Given the description of an element on the screen output the (x, y) to click on. 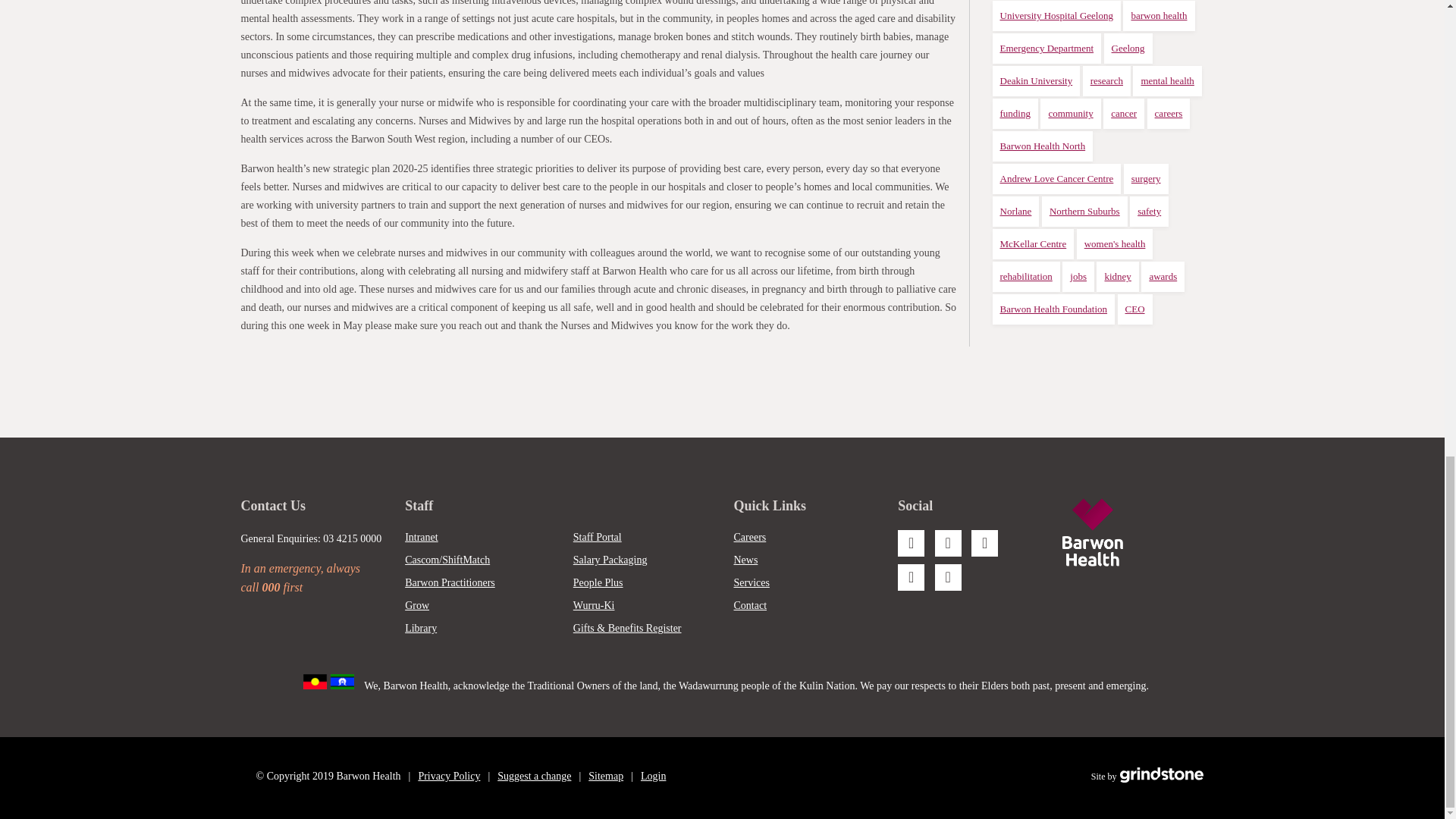
Grindstone Creative (1161, 776)
